Given the description of an element on the screen output the (x, y) to click on. 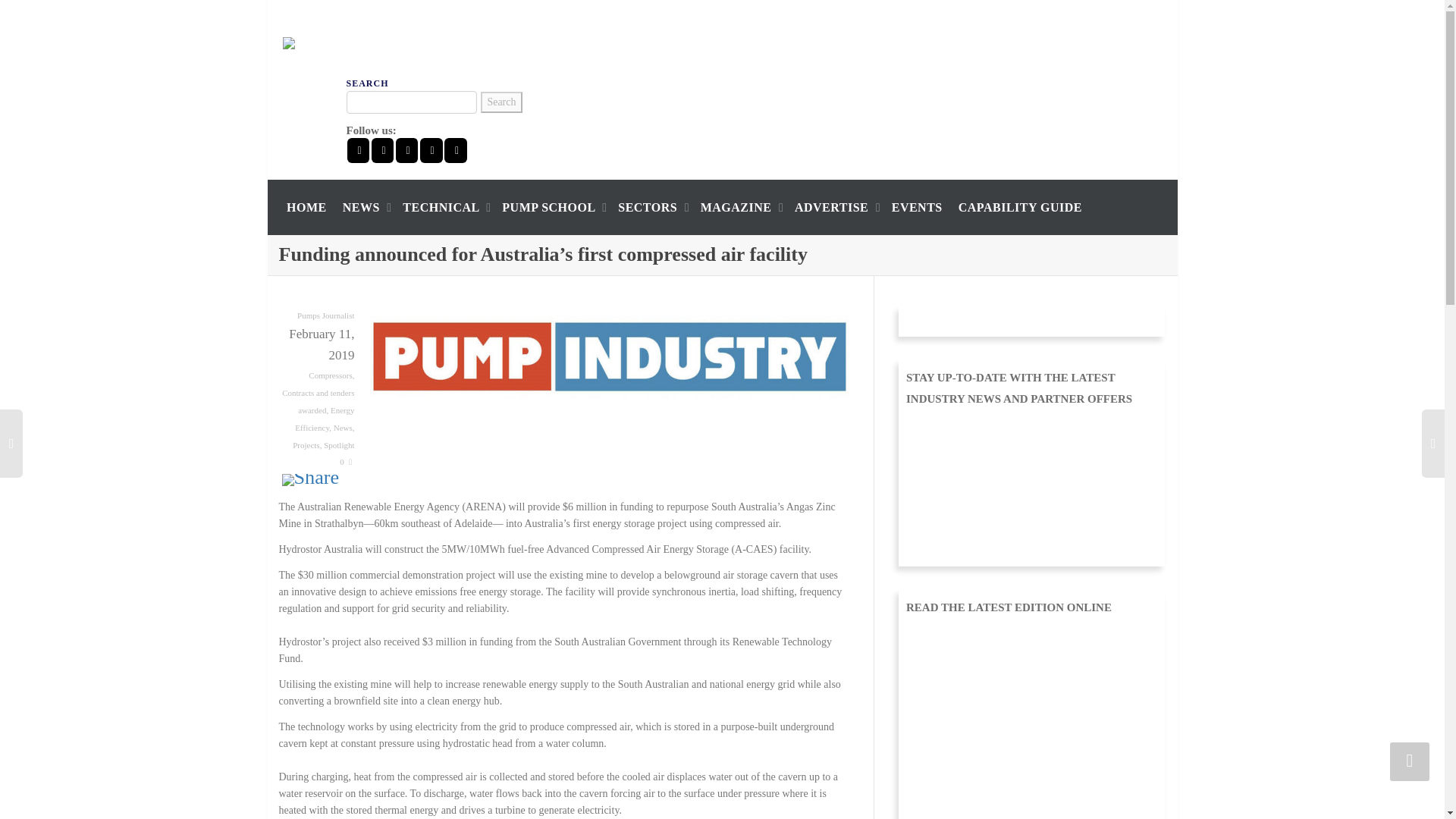
Sectors (650, 207)
MAGAZINE (739, 207)
Pump Industry Magazine (357, 42)
Contracts and tenders awarded (317, 401)
RSS Feed (455, 150)
Search (500, 102)
Compressors (330, 375)
SECTORS (650, 207)
Search (500, 102)
ADVERTISE (835, 207)
